Given the description of an element on the screen output the (x, y) to click on. 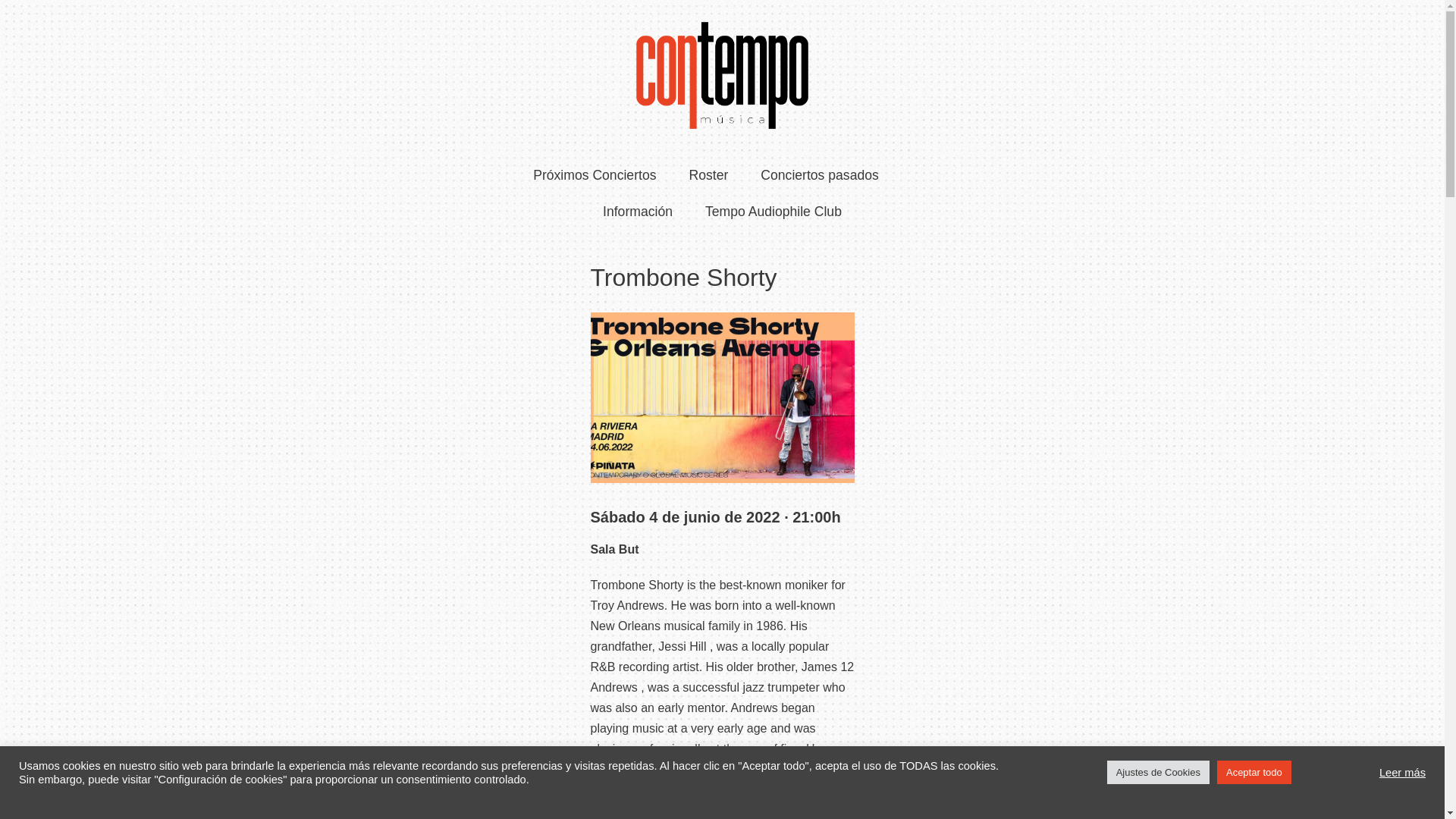
Conciertos pasados (819, 174)
Ajustes de Cookies (1157, 771)
Aceptar todo (1254, 771)
Roster (708, 174)
Saltar al contenido (15, 7)
Tempo Audiophile Club (772, 210)
